Given the description of an element on the screen output the (x, y) to click on. 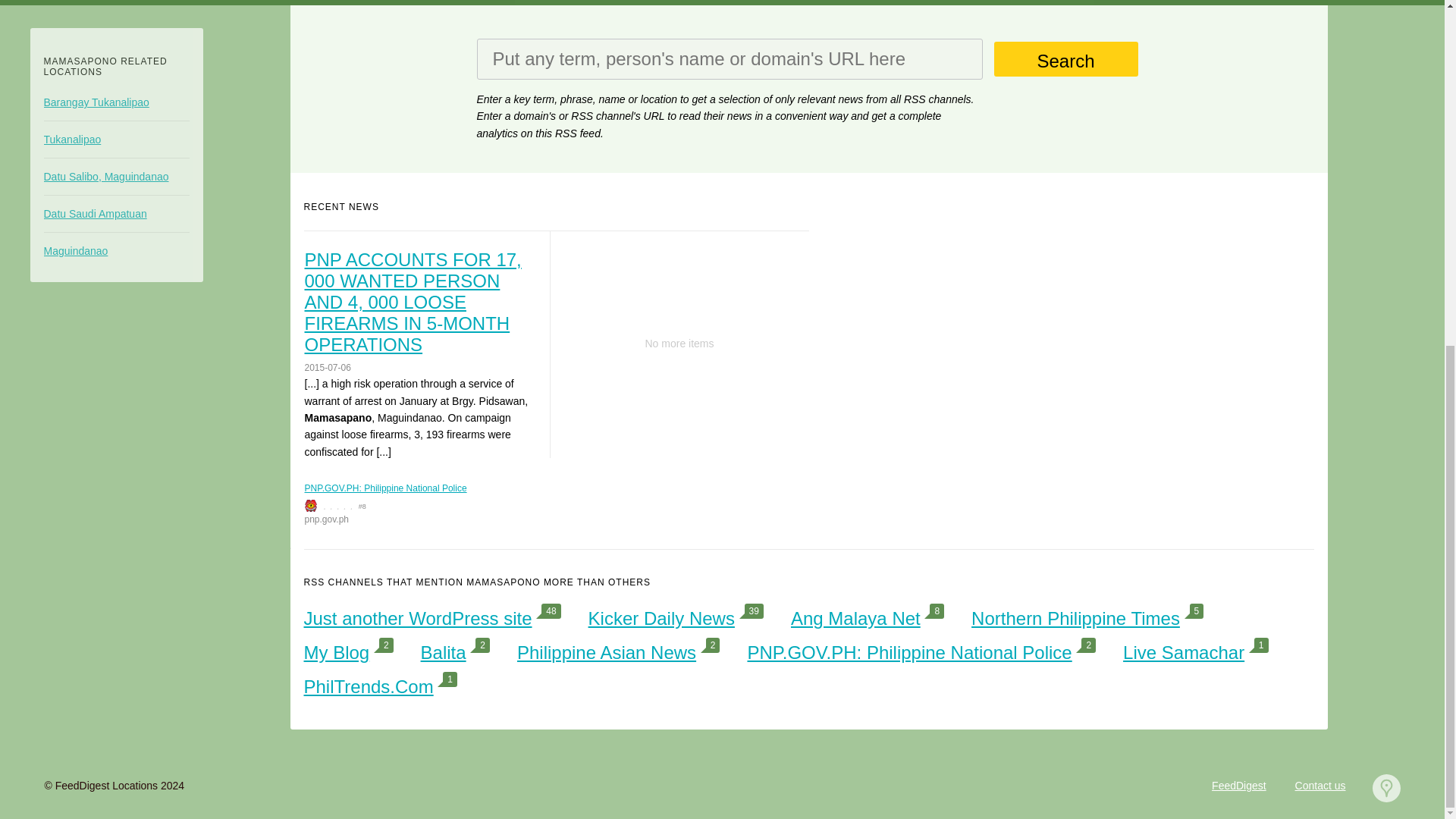
Search (1064, 58)
PNP.GOV.PH: Philippine National Police (385, 488)
Datu Salibo, Maguindanao (116, 176)
Live Samachar (1183, 652)
Tukanalipao (116, 139)
Barangay Tukanalipao (116, 102)
Philippine Asian News (605, 652)
Kicker Daily News (661, 618)
PNP.GOV.PH: Philippine National Police (908, 652)
Ang Malaya Net (855, 618)
Just another WordPress site (416, 618)
Balita (442, 652)
PhilTrends.Com (367, 686)
Northern Philippine Times (1075, 618)
